Given the description of an element on the screen output the (x, y) to click on. 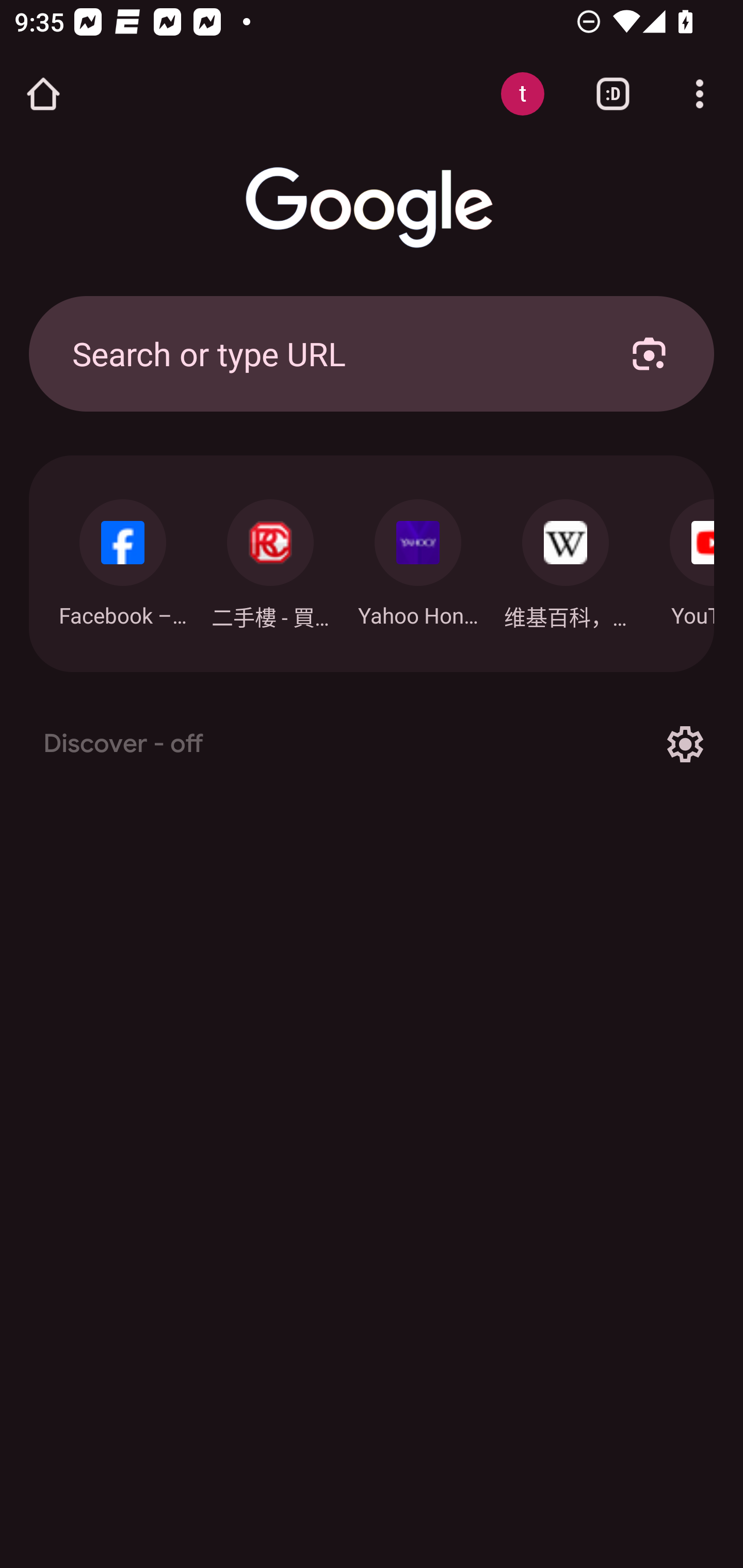
Open the home page (43, 93)
Switch or close tabs (612, 93)
Customize and control Google Chrome (699, 93)
Search or type URL (327, 353)
Search with your camera using Google Lens (648, 353)
Navigate: YouTube: m.youtube.com YouTube (677, 558)
Options for Discover (684, 743)
